Given the description of an element on the screen output the (x, y) to click on. 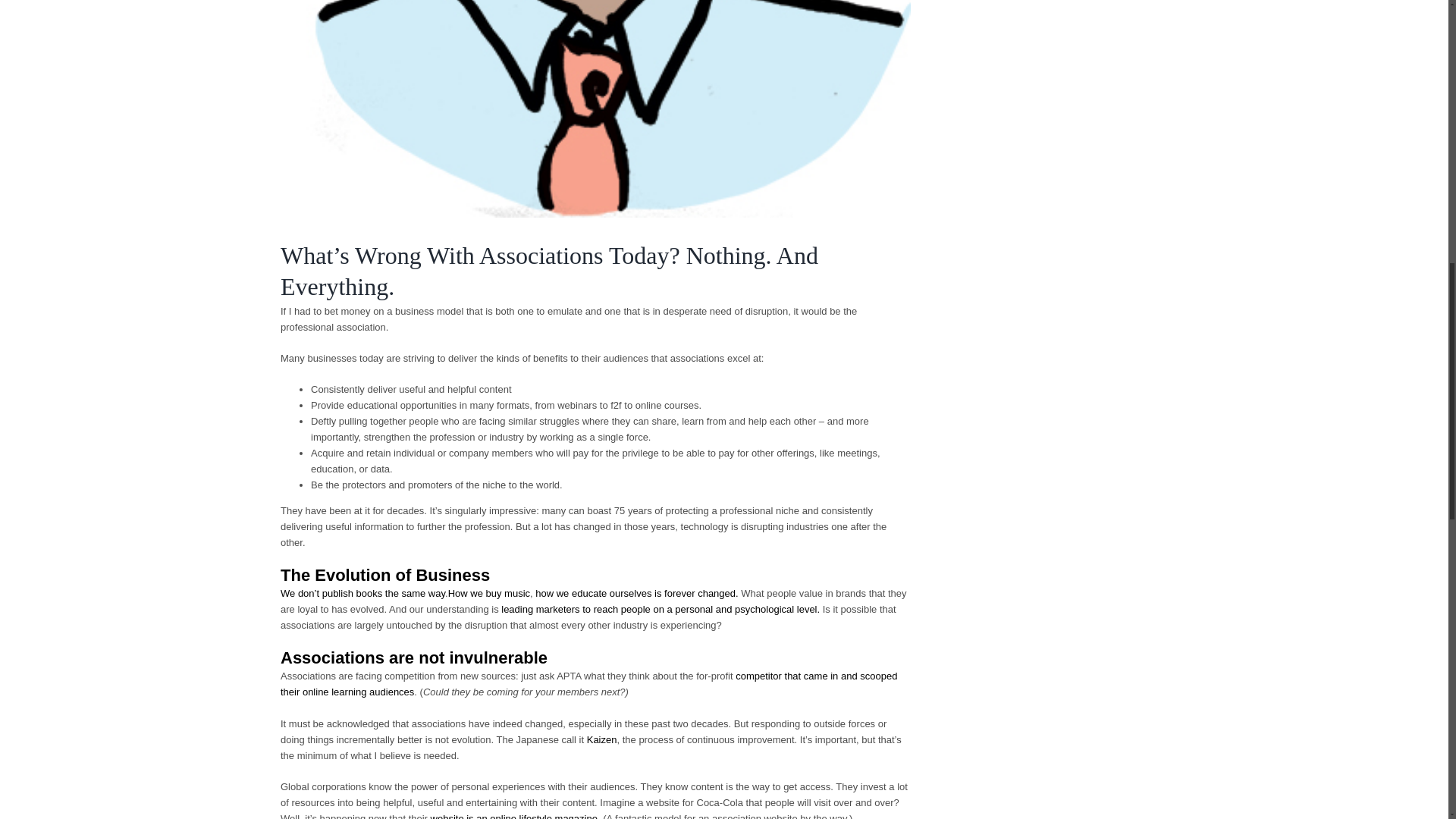
website is an online lifestyle magazine. (514, 816)
Seth Godin about Poke The Box (363, 593)
Kaizen (601, 739)
How we buy music (488, 593)
how we educate ourselves is forever changed. (636, 593)
